Given the description of an element on the screen output the (x, y) to click on. 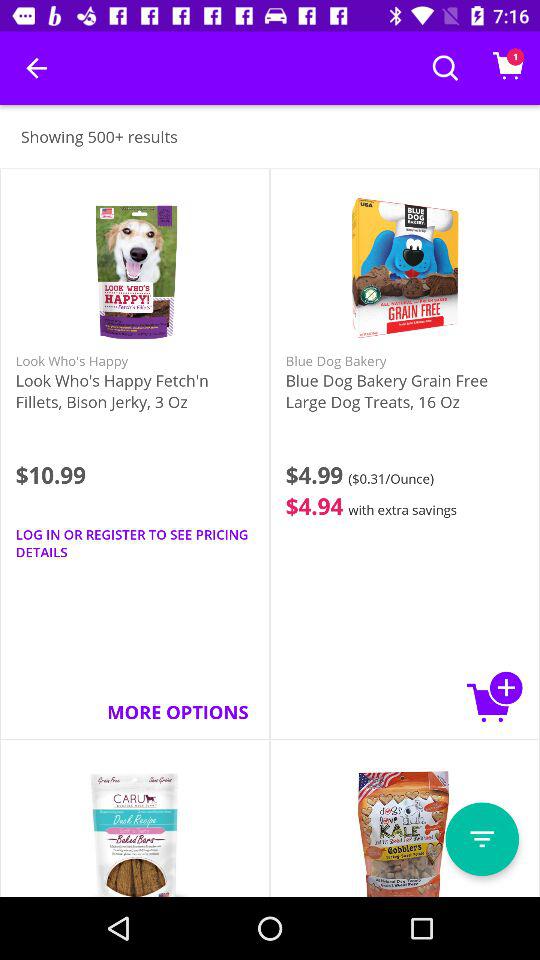
turn on icon above the more options item (134, 543)
